Given the description of an element on the screen output the (x, y) to click on. 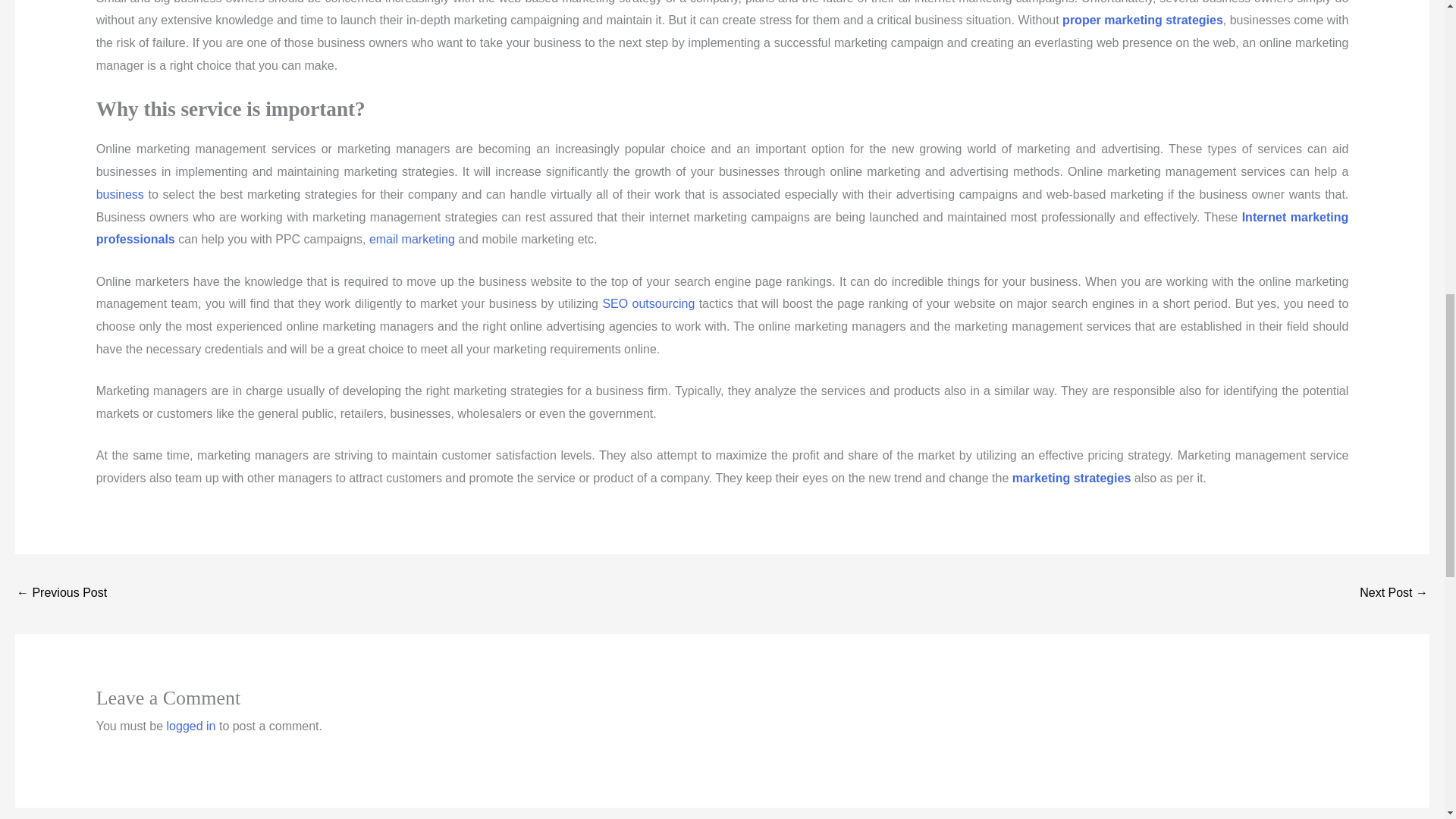
logged in (191, 725)
Our Guide To Window Filming Your Home (61, 593)
email marketing (411, 238)
Top 6 Reasons To Recycle Electronic Waste (1393, 593)
business (120, 194)
proper marketing strategies (1142, 19)
marketing strategies (1071, 477)
Internet marketing professionals (722, 228)
SEO outsourcing (648, 303)
